Given the description of an element on the screen output the (x, y) to click on. 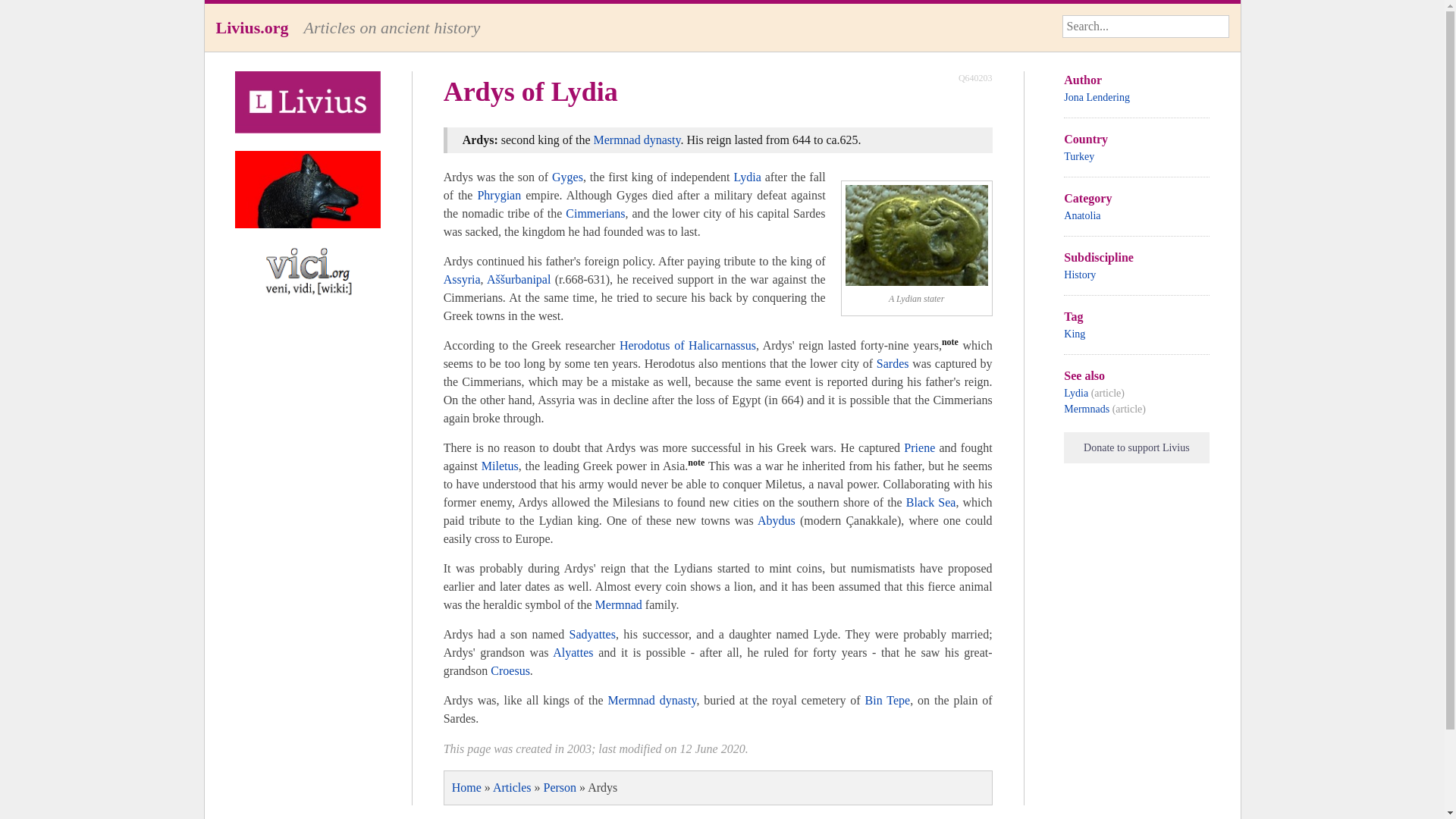
Sadyattes (592, 634)
Herodotus of Halicarnassus (687, 345)
Home (466, 787)
Person (559, 787)
Phrygian (499, 195)
Livius.org (251, 27)
Assyria (462, 278)
Wikidata ID (975, 78)
Click to toggle note (695, 465)
Miletus (499, 465)
